Given the description of an element on the screen output the (x, y) to click on. 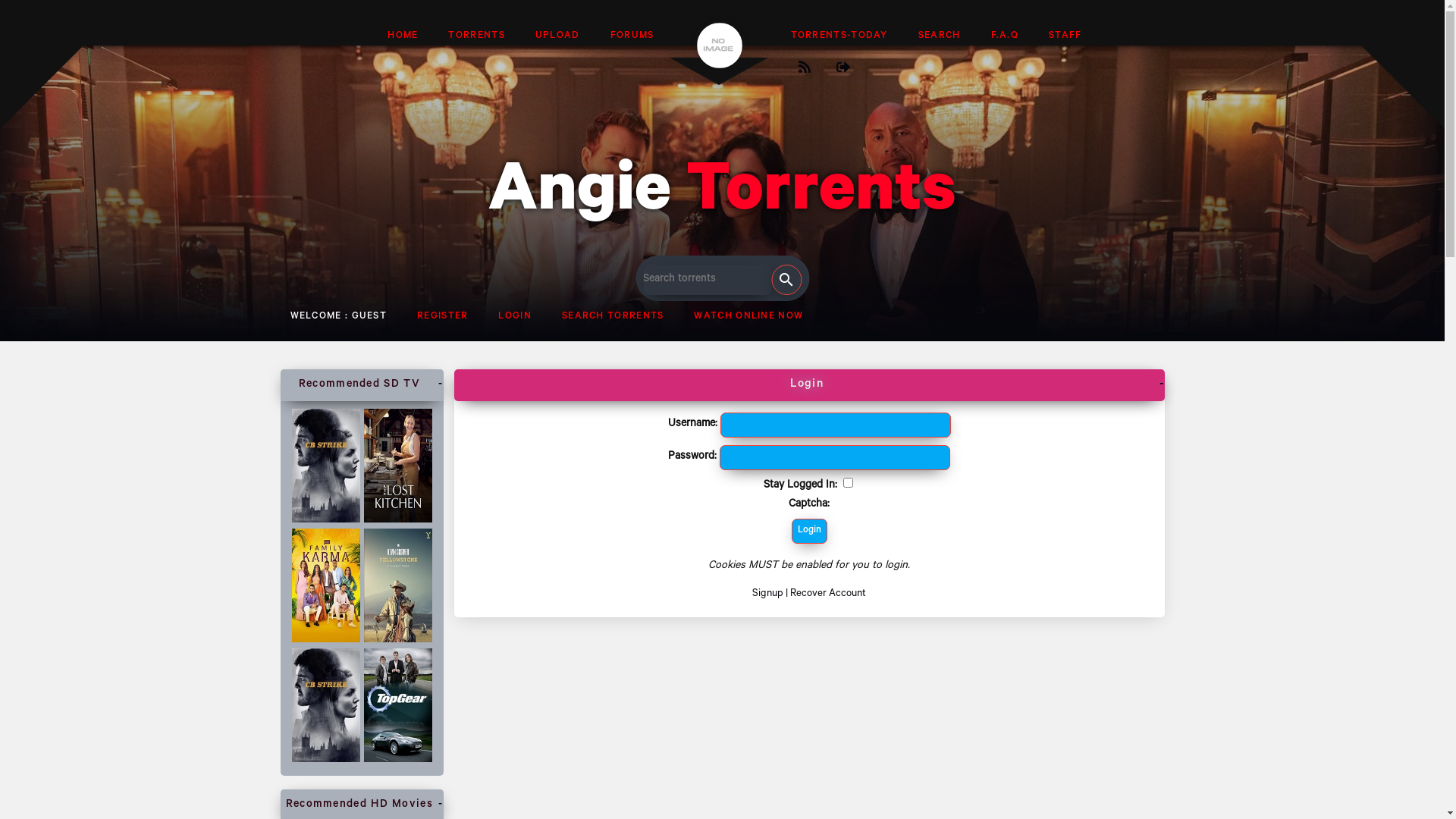
STAFF Element type: text (1065, 36)
- Element type: text (1161, 384)
WELCOME : GUEST Element type: text (337, 317)
Login Element type: text (809, 530)
Signup Element type: text (767, 593)
The.Lost.Kitchen.S03E08.WEBRip.x264-XEN0N Element type: hover (397, 520)
- Element type: text (440, 384)
SEARCH TORRENTS Element type: text (612, 317)
UPLOAD Element type: text (557, 36)
F.A.Q Element type: text (1005, 36)
WATCH ONLINE NOW Element type: text (748, 317)
Recover Account Element type: text (828, 593)
Strike.S05E03.WEBRip.x264-XEN0N Element type: hover (325, 760)
Family.Karma.S03E07.WEBRip.x264-XEN0N Element type: hover (325, 640)
LOGIN Element type: text (514, 317)
- Element type: text (440, 804)
REGISTER Element type: text (442, 317)
HOME Element type: text (402, 36)
Top.Gear.S33E05.WEBRip.x264-XEN0N Element type: hover (397, 760)
Strike S05E04 720p HDTV x264-ORGANiC Element type: hover (325, 520)
FORUMS Element type: text (632, 36)
search Element type: text (786, 279)
TORRENTS Element type: text (476, 36)
Yellowstone.S05E07.WEBRip.x264-XEN0N Element type: hover (397, 640)
SEARCH Element type: text (939, 36)
TORRENTS-TODAY Element type: text (838, 36)
